Given the description of an element on the screen output the (x, y) to click on. 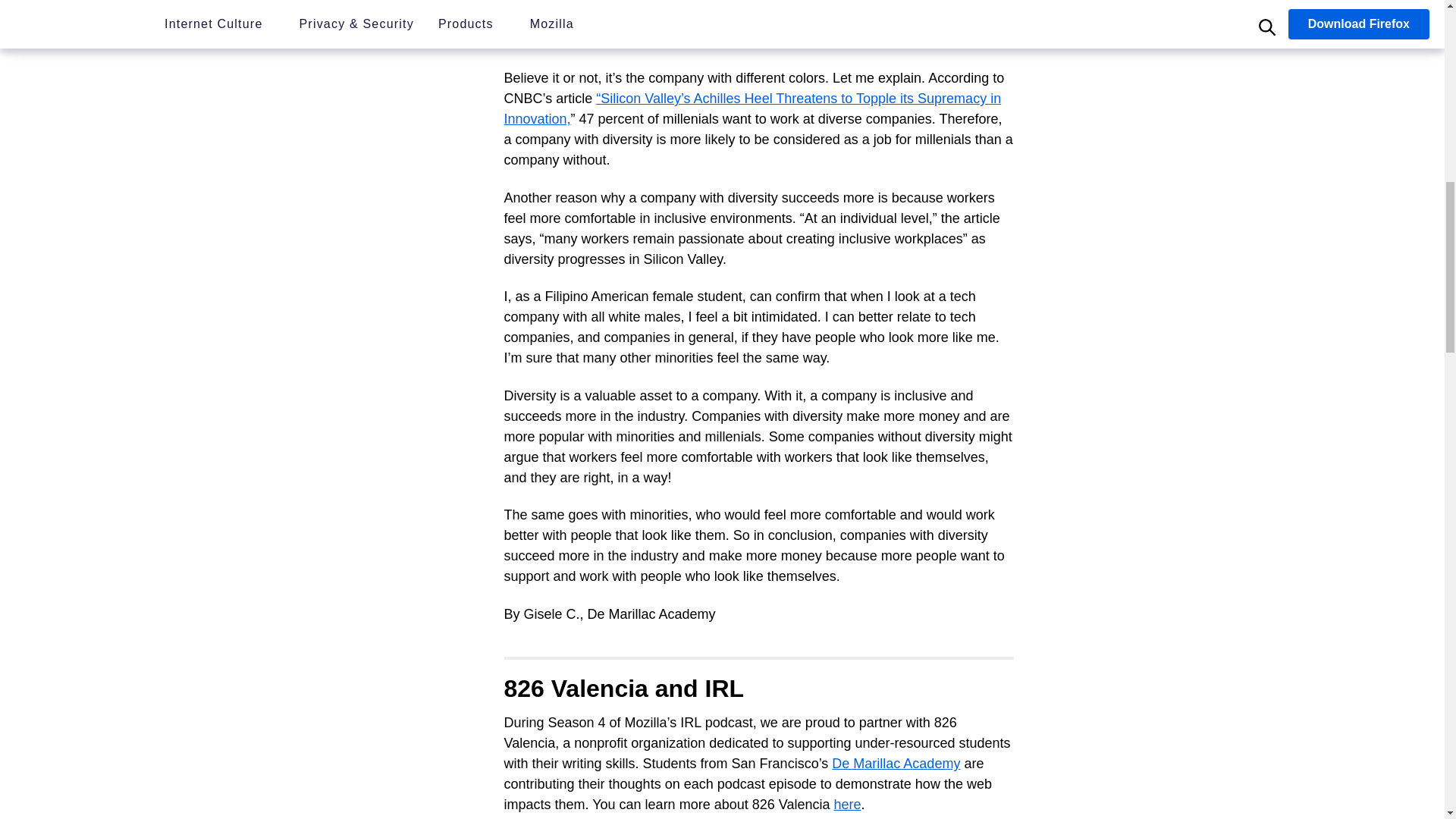
here (846, 804)
De Marillac Academy (895, 763)
